Given the description of an element on the screen output the (x, y) to click on. 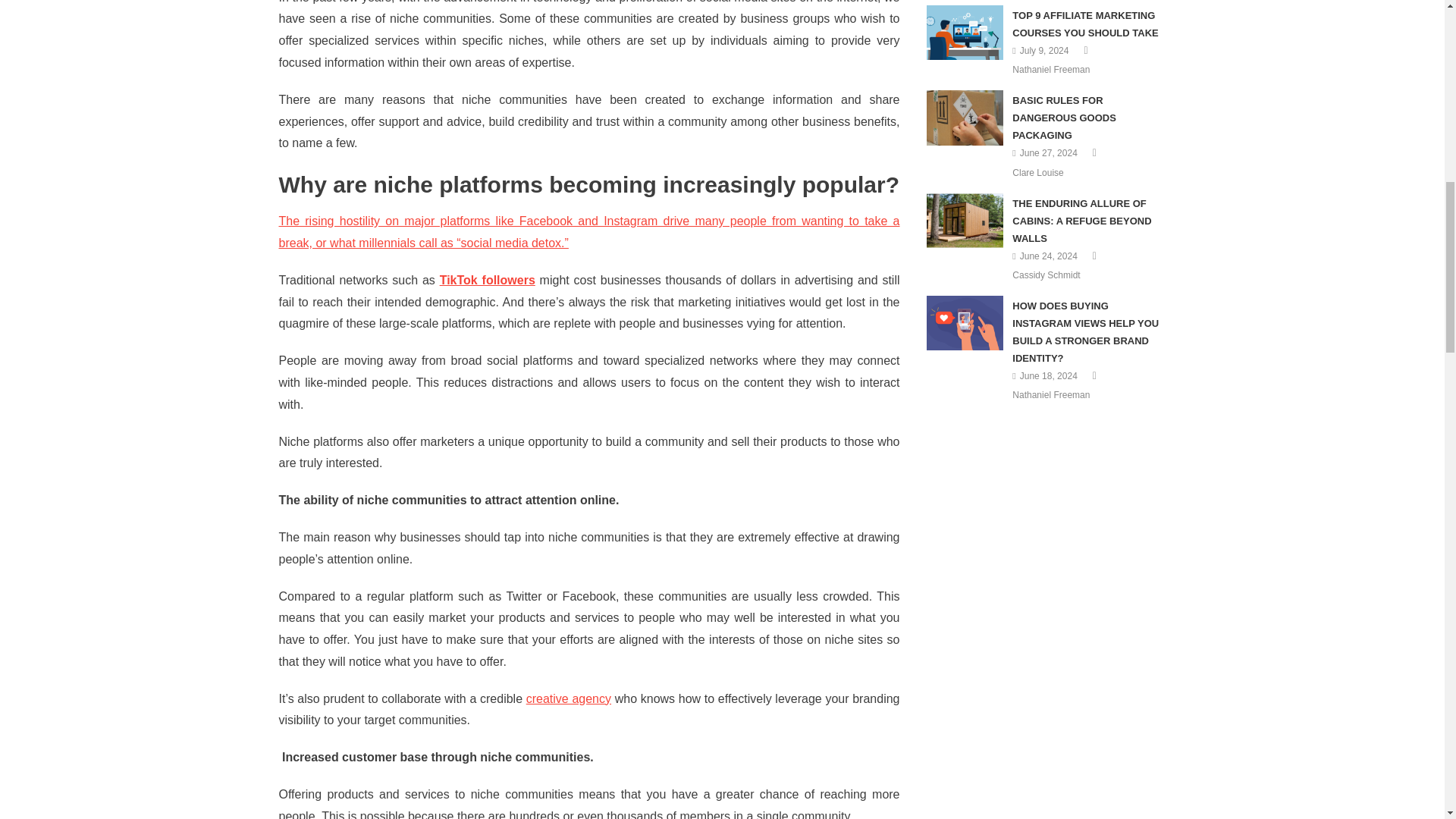
creative agency (568, 698)
Basic Rules for Dangerous Goods Packaging (964, 117)
TikTok followers (487, 279)
The Enduring Allure of Cabins: A Refuge Beyond Walls (964, 220)
Top 9 Affiliate Marketing Courses You Should Take (964, 31)
